Given the description of an element on the screen output the (x, y) to click on. 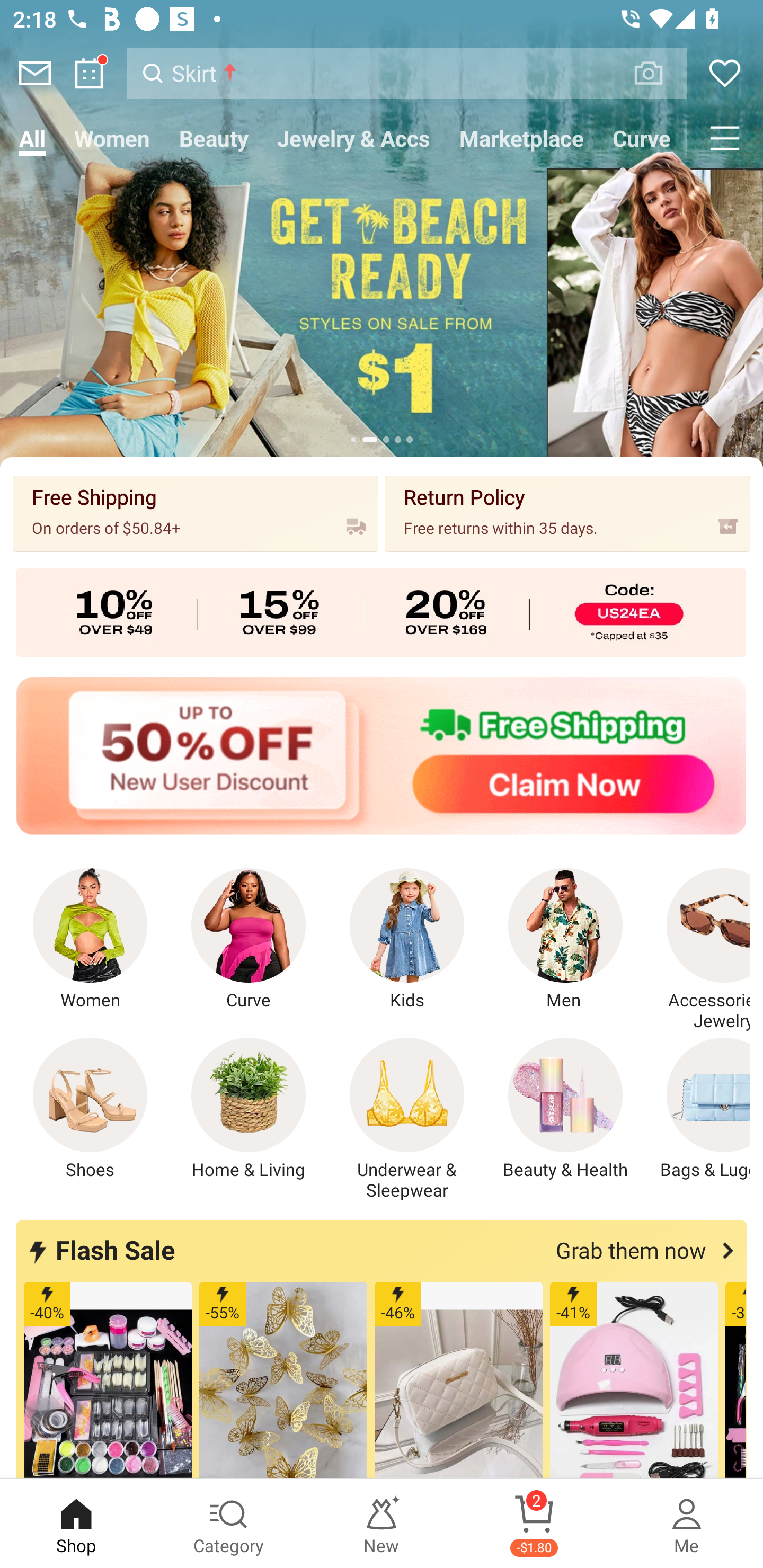
Wishlist (724, 72)
VISUAL SEARCH (657, 72)
All (31, 137)
Women (111, 137)
Beauty (213, 137)
Jewelry & Accs (353, 137)
Marketplace (521, 137)
Curve (641, 137)
Free Shipping On orders of $50.84+ (195, 513)
Return Policy Free returns within 35 days. (567, 513)
Women (89, 939)
Curve (248, 939)
Kids (406, 939)
Men  (565, 939)
Accessories & Jewelry (698, 949)
Shoes (89, 1109)
Home & Living (248, 1109)
Underwear & Sleepwear (406, 1119)
Beauty & Health (565, 1109)
Bags & Luggage (698, 1109)
Category (228, 1523)
New (381, 1523)
Cart 2 -$1.80 (533, 1523)
Me (686, 1523)
